Given the description of an element on the screen output the (x, y) to click on. 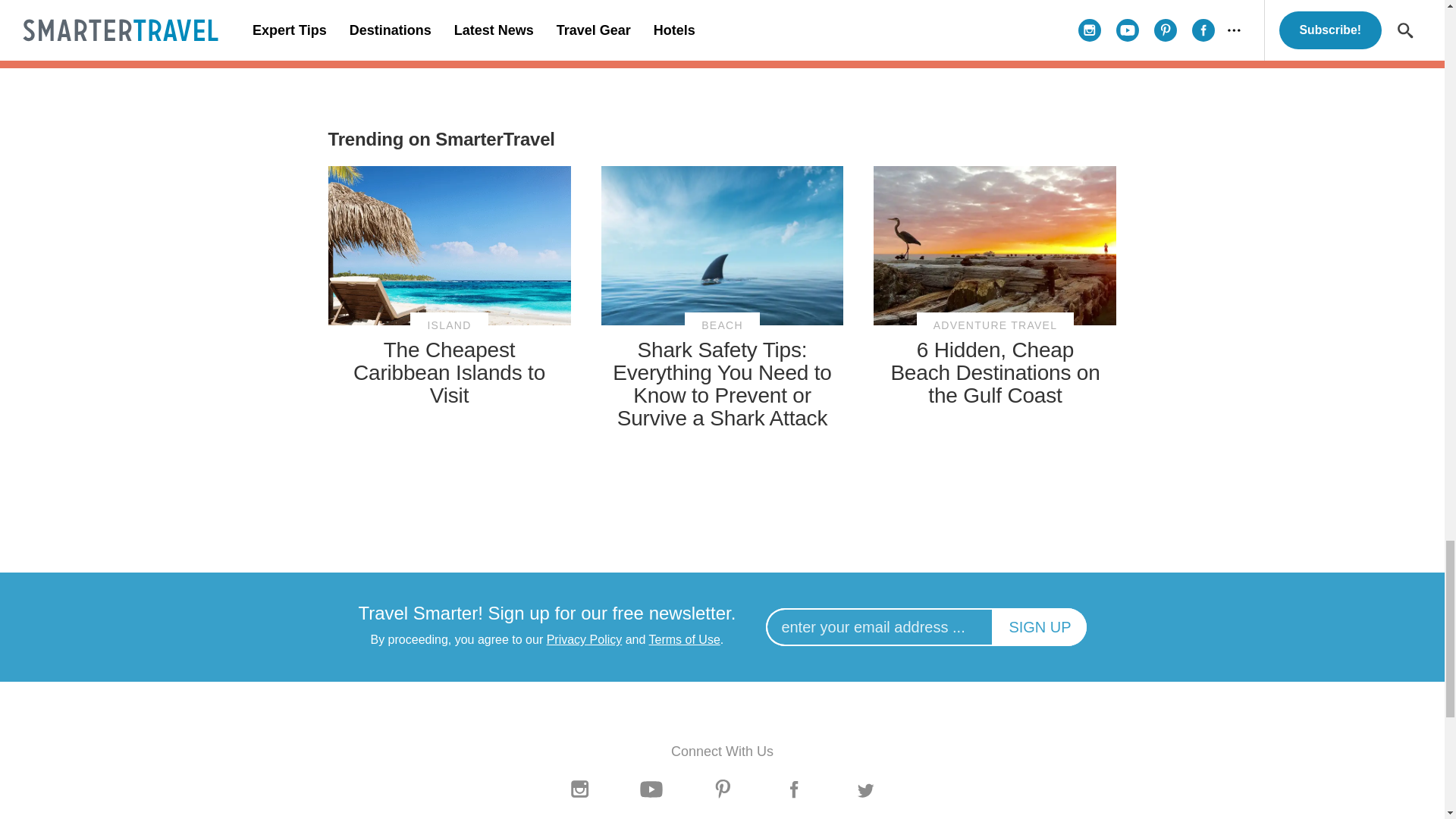
View all posts in Adventure Travel (995, 325)
View all posts in Beach (722, 325)
View all posts in Island (448, 325)
